Given the description of an element on the screen output the (x, y) to click on. 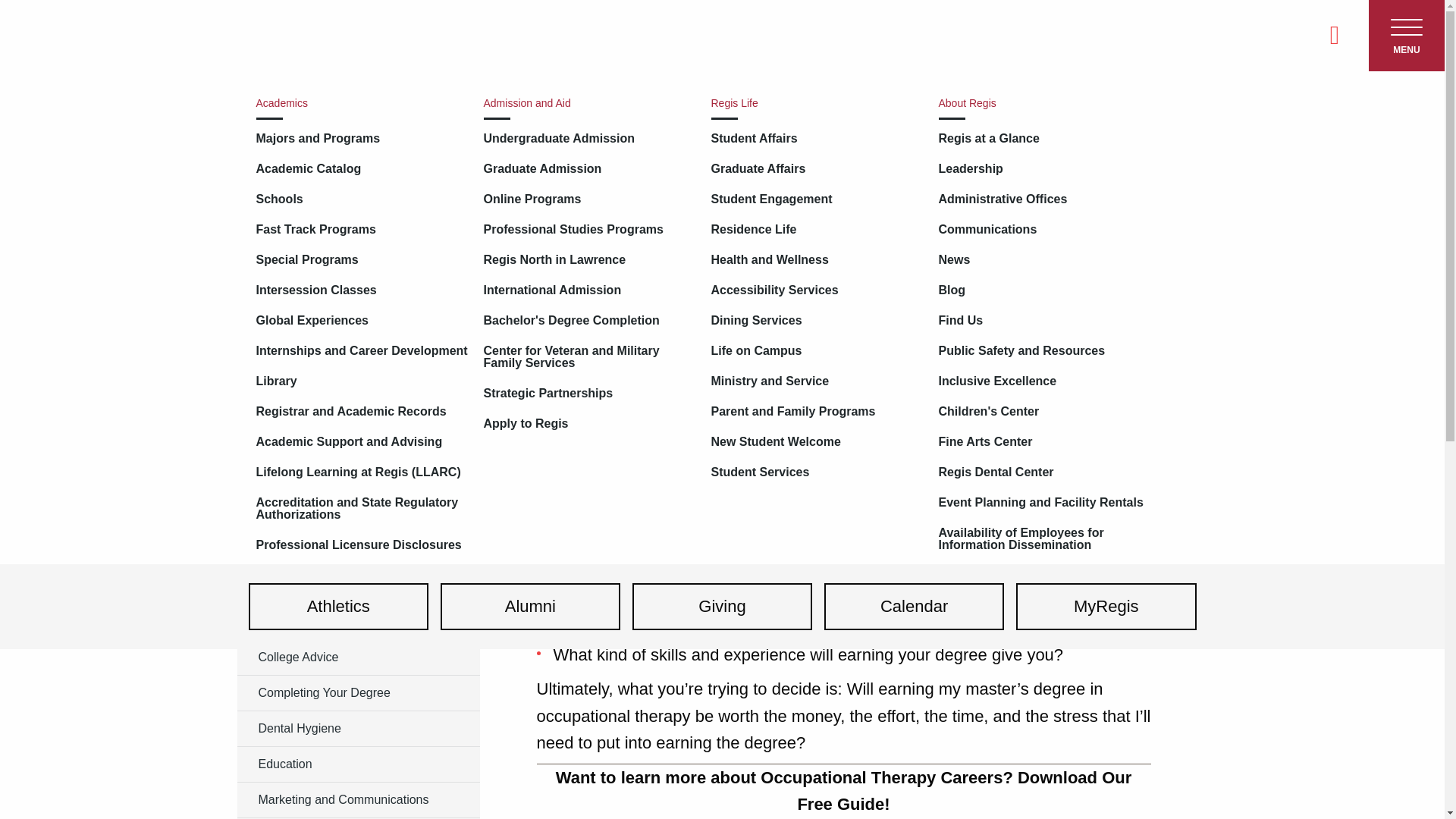
College Advice (357, 656)
Ministry and Service (817, 381)
Health Sciences (357, 550)
Professional Studies Programs (589, 229)
Student Engagement (817, 199)
Academic Catalog (362, 169)
Strategic Partnerships (589, 393)
Admission and Aid (589, 102)
Academic Support and Advising (362, 441)
Global Experiences (362, 320)
Life on Campus (817, 350)
Intersession Classes (362, 290)
Residence Life (817, 229)
Fast Track Programs (362, 229)
